Given the description of an element on the screen output the (x, y) to click on. 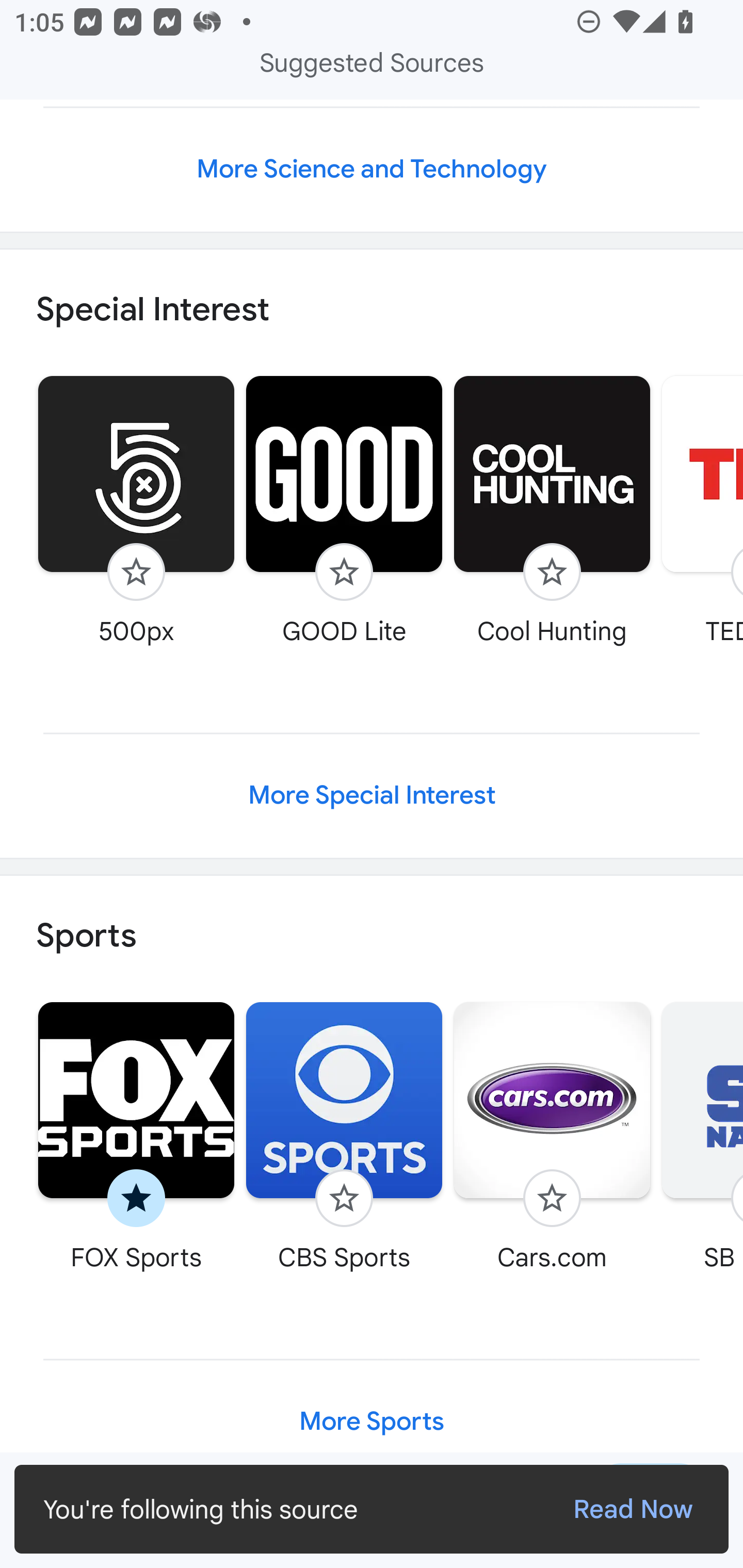
More Science and Technology (371, 169)
Special Interest (371, 309)
Follow 500px (136, 509)
Follow GOOD Lite (344, 509)
Follow Cool Hunting (552, 509)
Follow (135, 571)
Follow (343, 571)
Follow (552, 571)
More Special Interest (371, 795)
Sports (371, 936)
Unfollow FOX Sports (136, 1136)
Follow CBS Sports (344, 1136)
Follow Cars.com (552, 1136)
Unfollow (135, 1198)
Follow (343, 1198)
Follow (552, 1198)
More Sports (371, 1421)
Read Now (632, 1509)
